Given the description of an element on the screen output the (x, y) to click on. 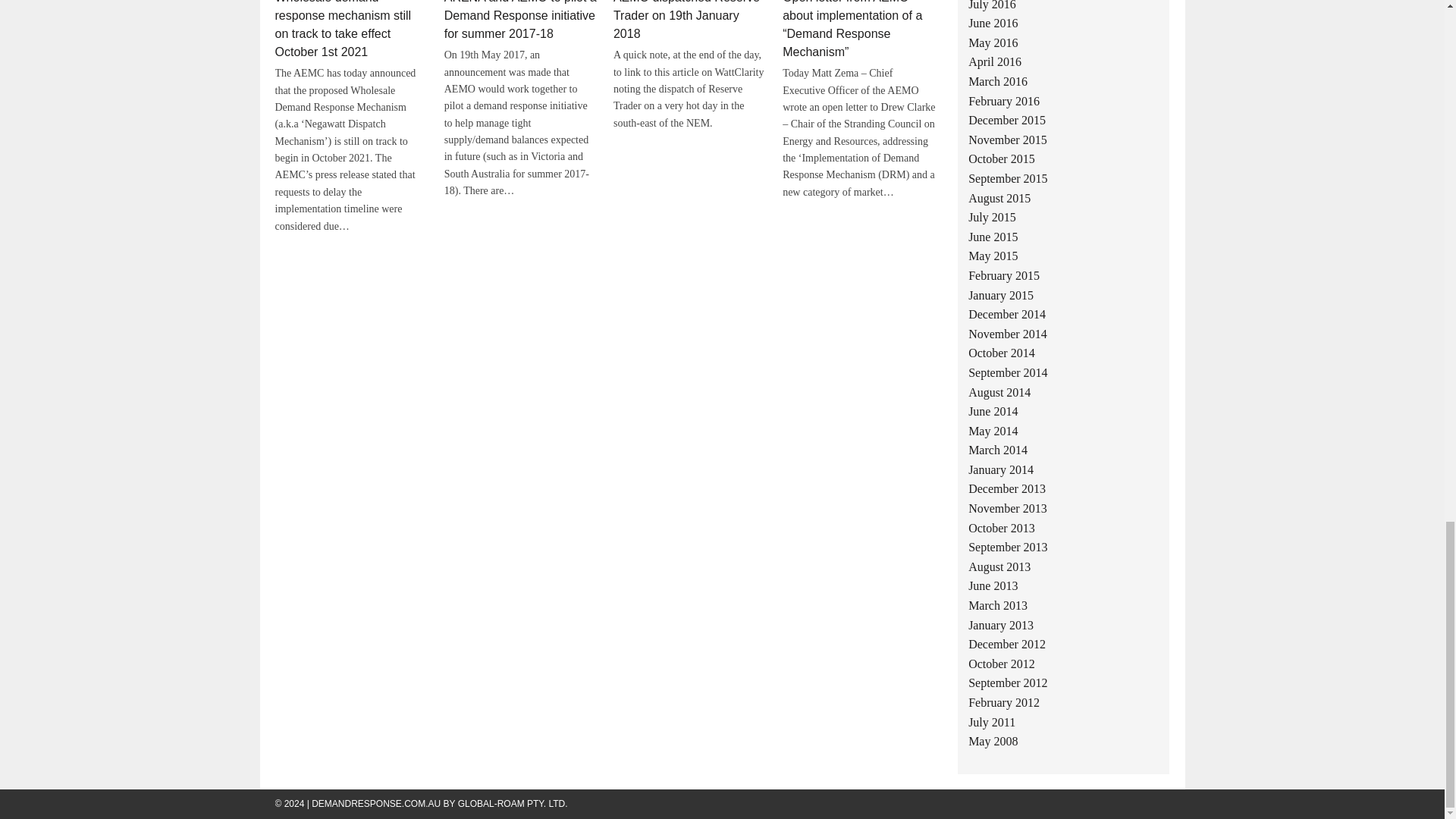
AEMO dispatched Reserve Trader on 19th January 2018 (686, 20)
AEMO dispatched Reserve Trader on 19th January 2018 (686, 20)
